Given the description of an element on the screen output the (x, y) to click on. 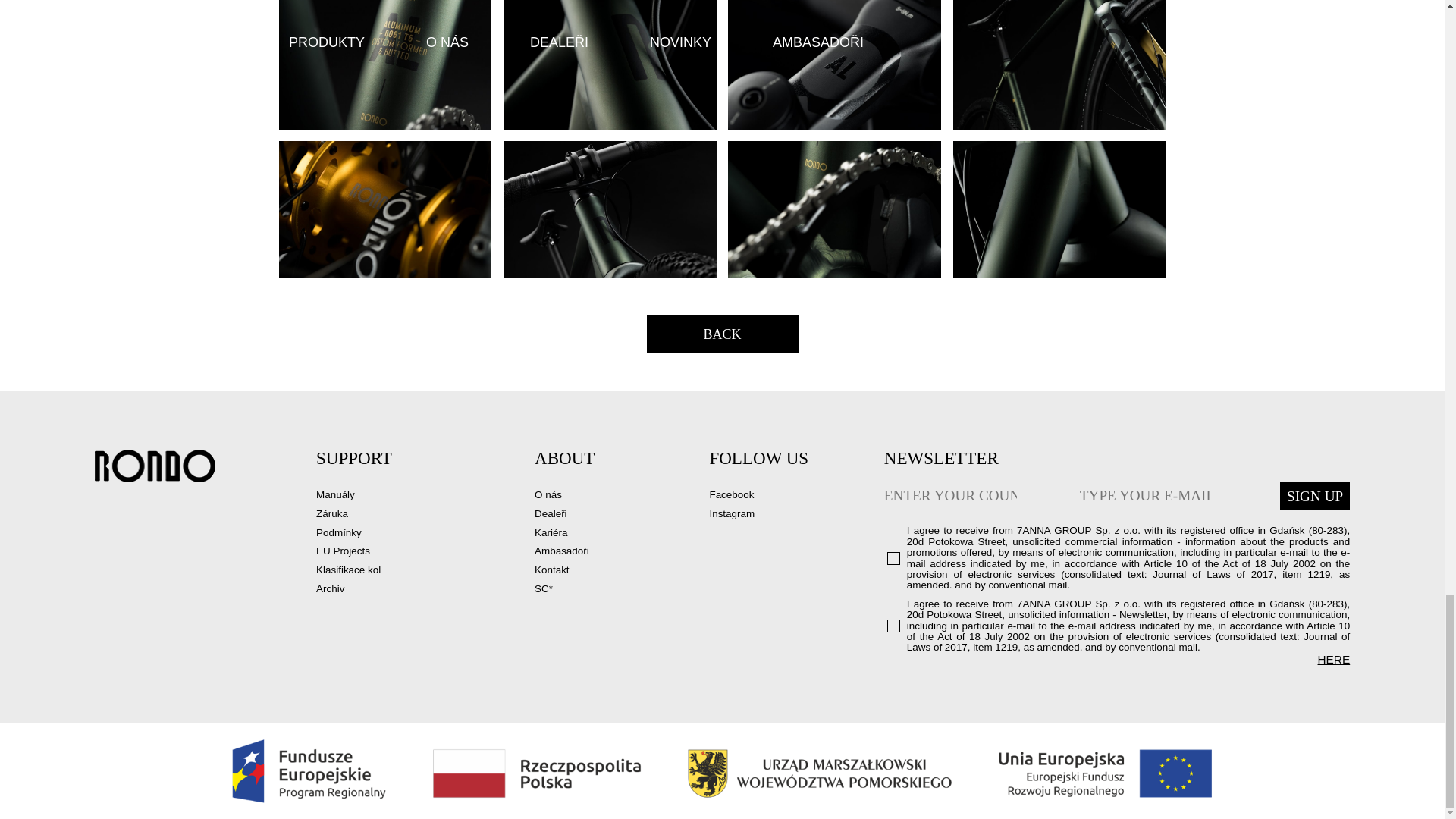
Sign UP (1314, 495)
BACK (721, 333)
1 (892, 625)
1 (892, 558)
